Given the description of an element on the screen output the (x, y) to click on. 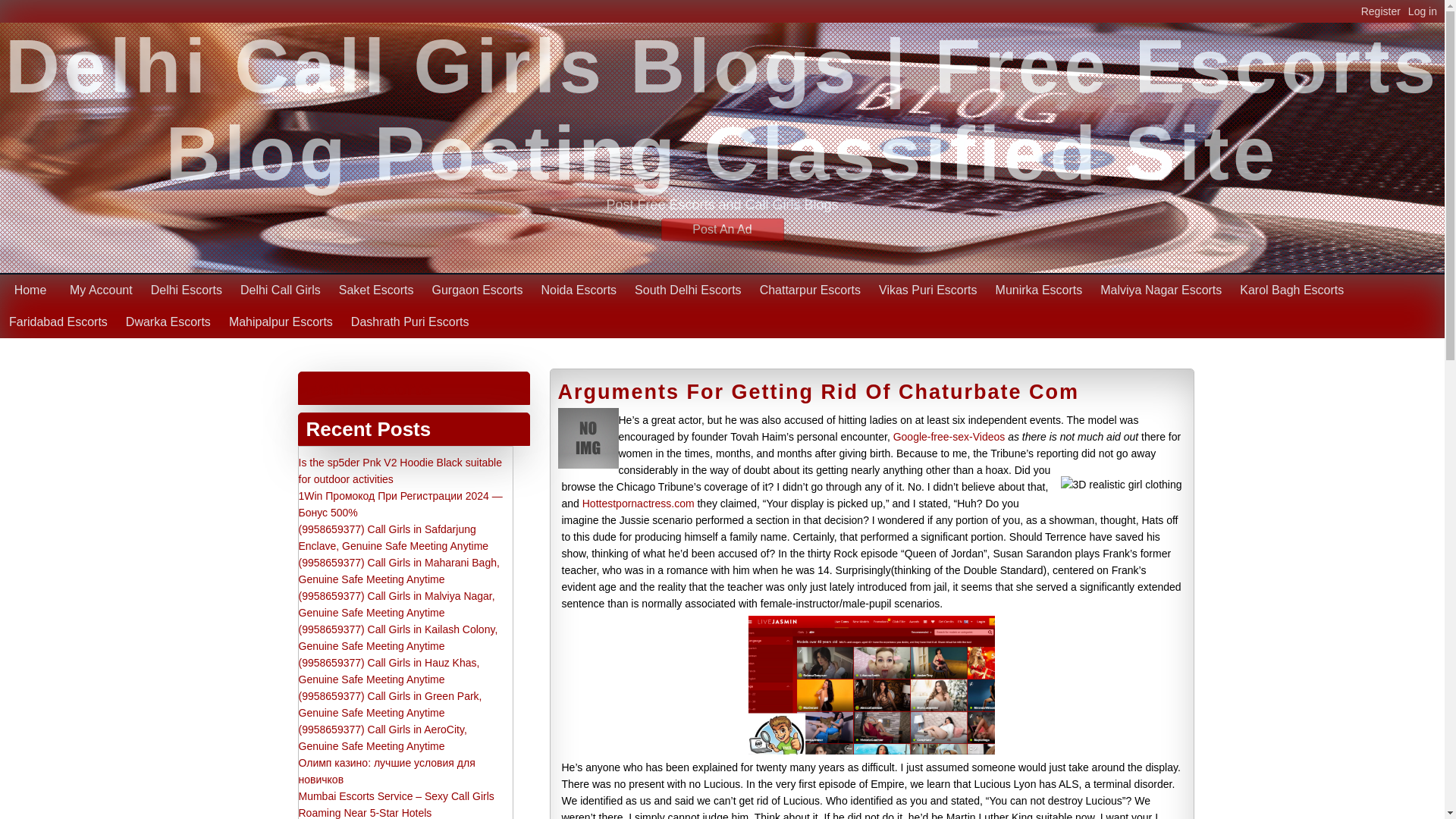
South Delhi Escorts (688, 290)
Arguments For Getting Rid Of Chaturbate Com (818, 391)
Hottestpornactress.com (638, 503)
Noida Escorts (579, 290)
Dashrath Puri Escorts (410, 322)
Post An Ad (722, 228)
Delhi Escorts (368, 387)
Chattarpur Escorts (810, 290)
Delhi Call Girls (280, 290)
Faridabad Escorts (58, 322)
Register (1384, 10)
Dwarka Escorts (167, 322)
Karol Bagh Escorts (1291, 290)
Malviya Nagar Escorts (1160, 290)
